Given the description of an element on the screen output the (x, y) to click on. 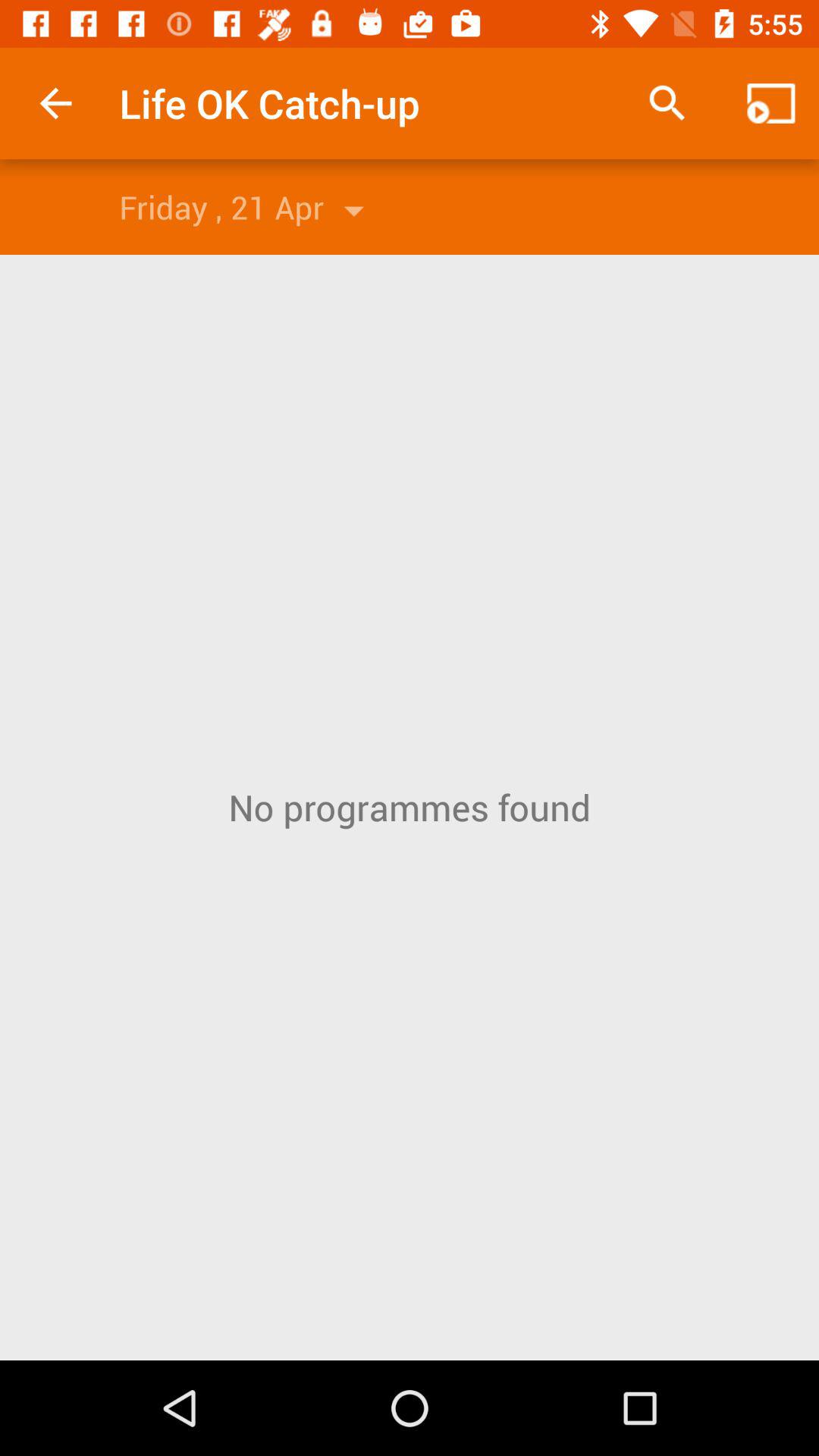
select the icon above friday , 21 apr  icon (55, 103)
